Given the description of an element on the screen output the (x, y) to click on. 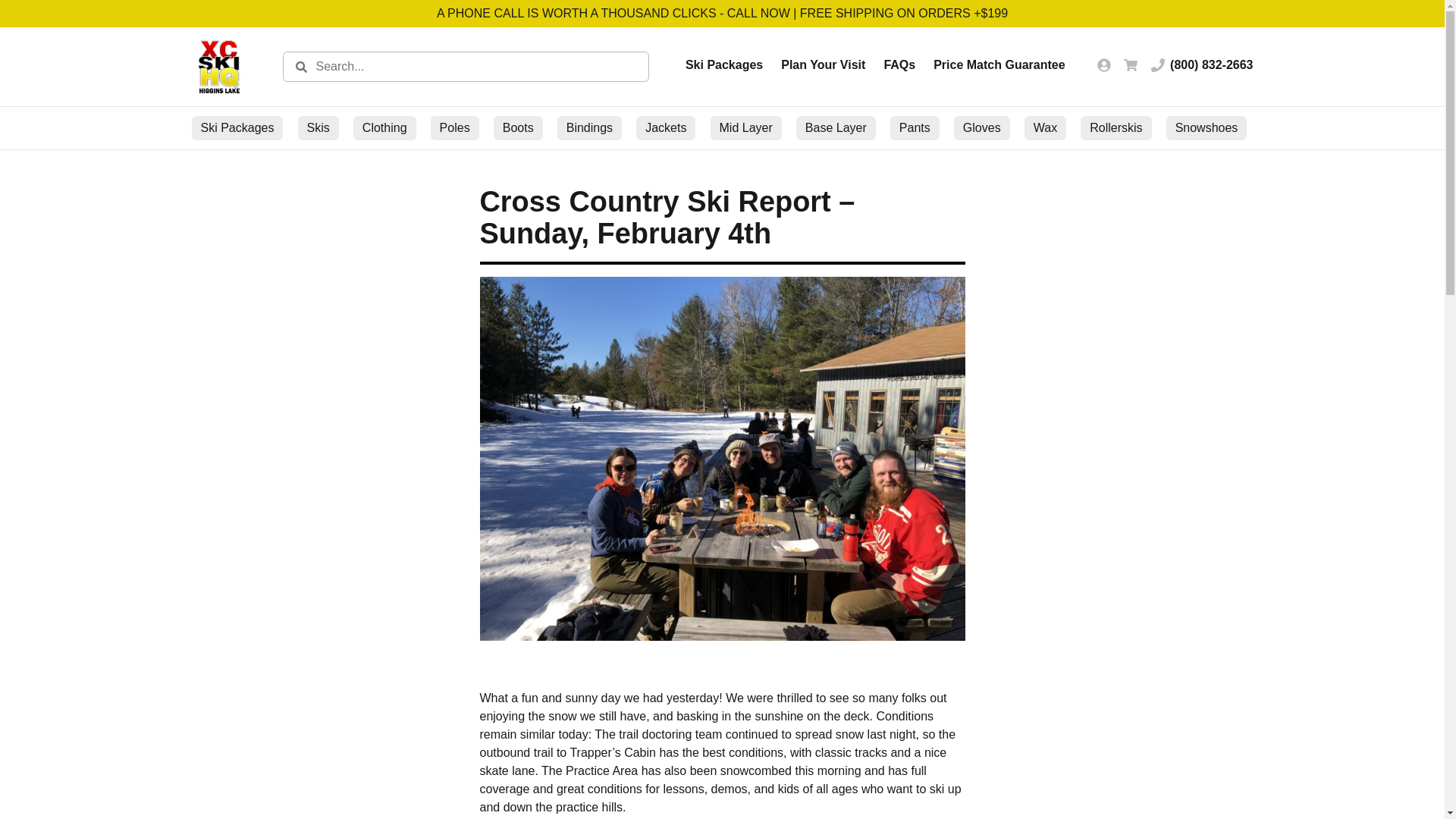
Ski Packages (236, 128)
Pants (914, 128)
Ski Packages (723, 65)
Plan Your Visit (822, 65)
Wax (1045, 128)
Rollerskis (1115, 128)
Mid Layer (745, 128)
Gloves (981, 128)
Snowshoes (1206, 128)
Boots (518, 128)
Bindings (589, 128)
Price Match Guarantee (998, 65)
Poles (454, 128)
Jackets (665, 128)
Skis (318, 128)
